Given the description of an element on the screen output the (x, y) to click on. 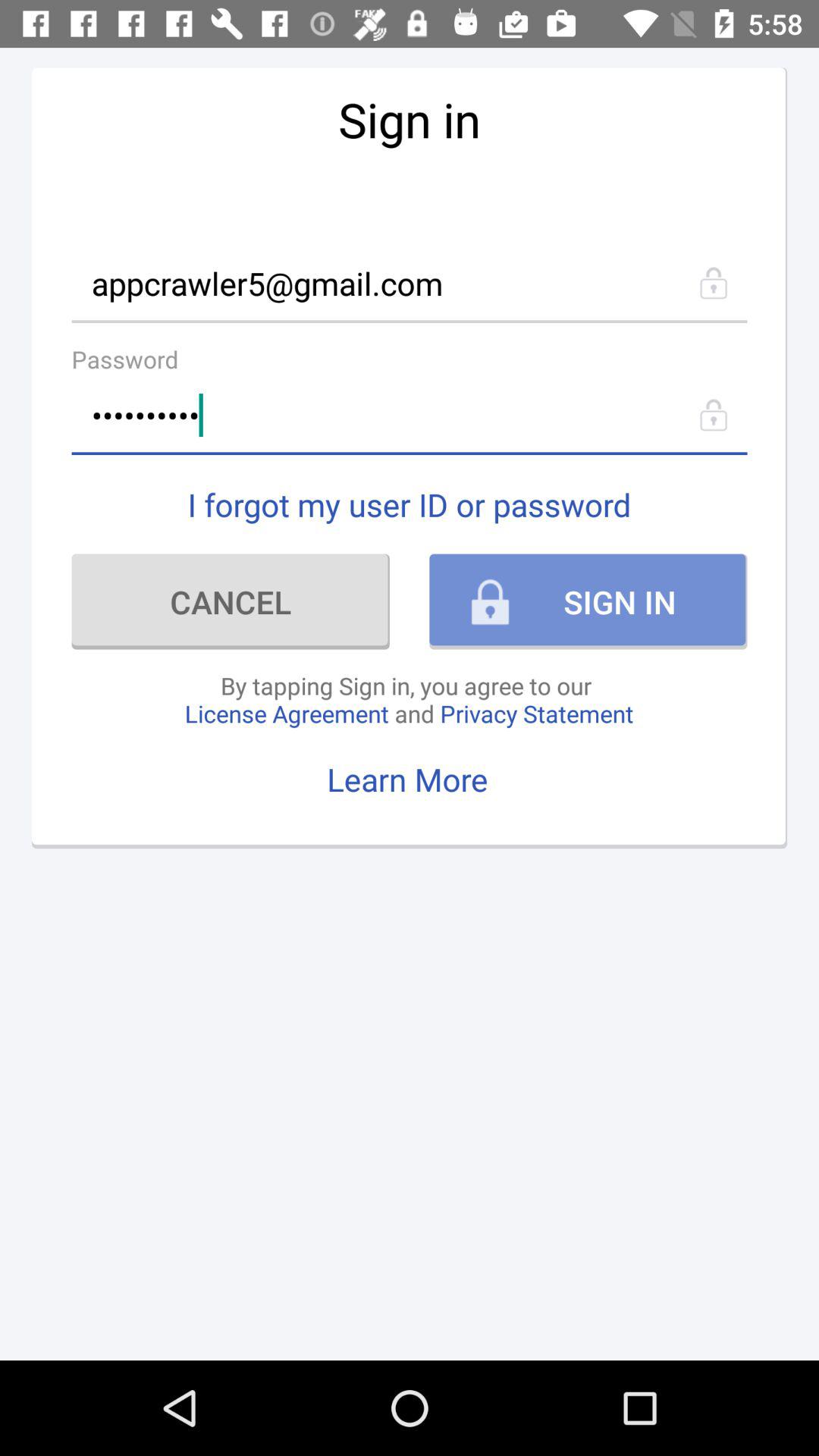
flip until cancel item (230, 601)
